Given the description of an element on the screen output the (x, y) to click on. 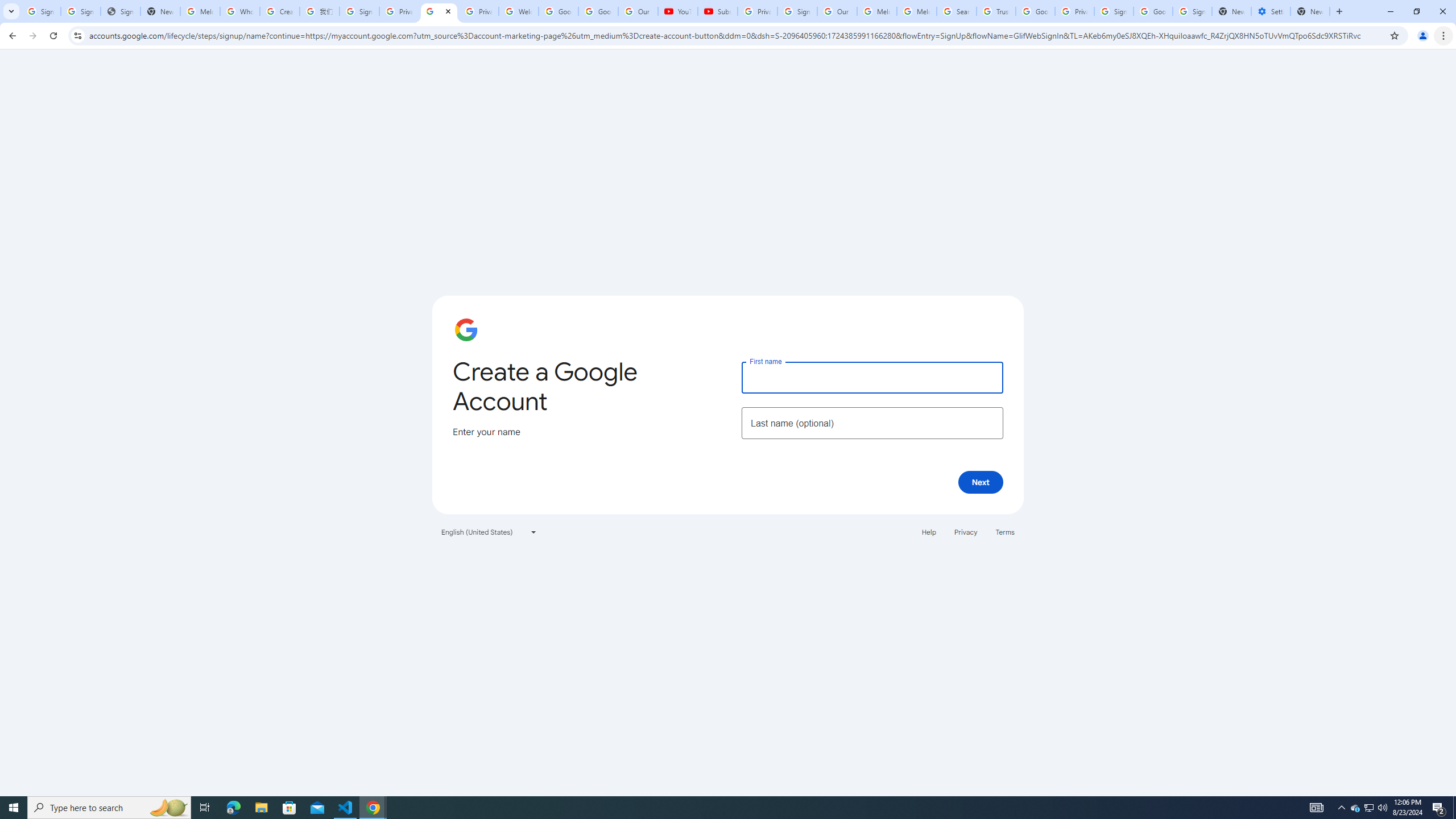
Sign In - USA TODAY (120, 11)
Address and search bar (735, 35)
Subscriptions - YouTube (717, 11)
Create your Google Account (438, 11)
Sign in - Google Accounts (1113, 11)
